Given the description of an element on the screen output the (x, y) to click on. 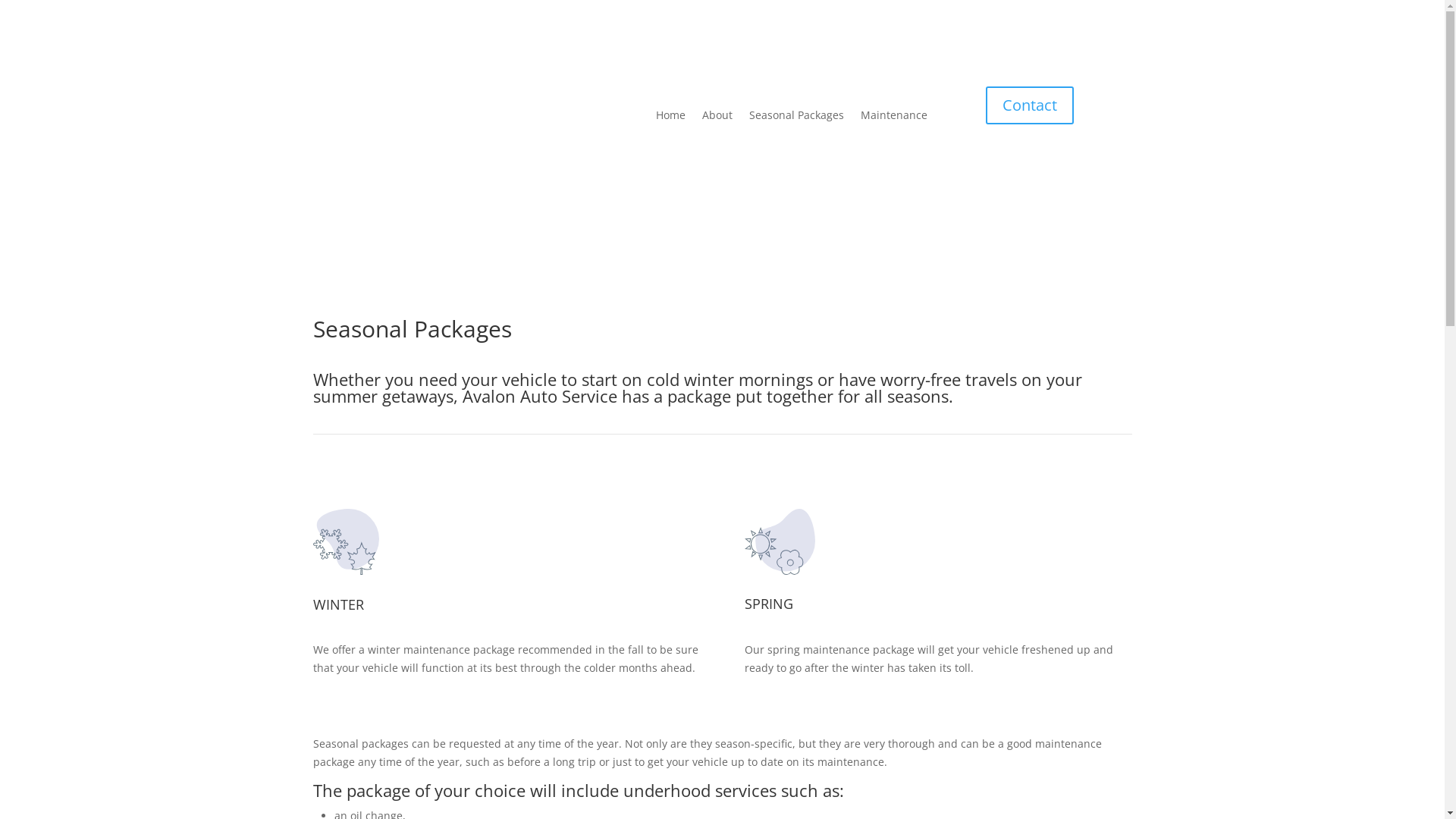
Group 163 Element type: hover (779, 541)
Contact Element type: text (1029, 105)
Group 162 Element type: hover (345, 541)
About Element type: text (717, 115)
Seasonal Packages Element type: text (796, 115)
Home Element type: text (669, 115)
Maintenance Element type: text (892, 115)
